Given the description of an element on the screen output the (x, y) to click on. 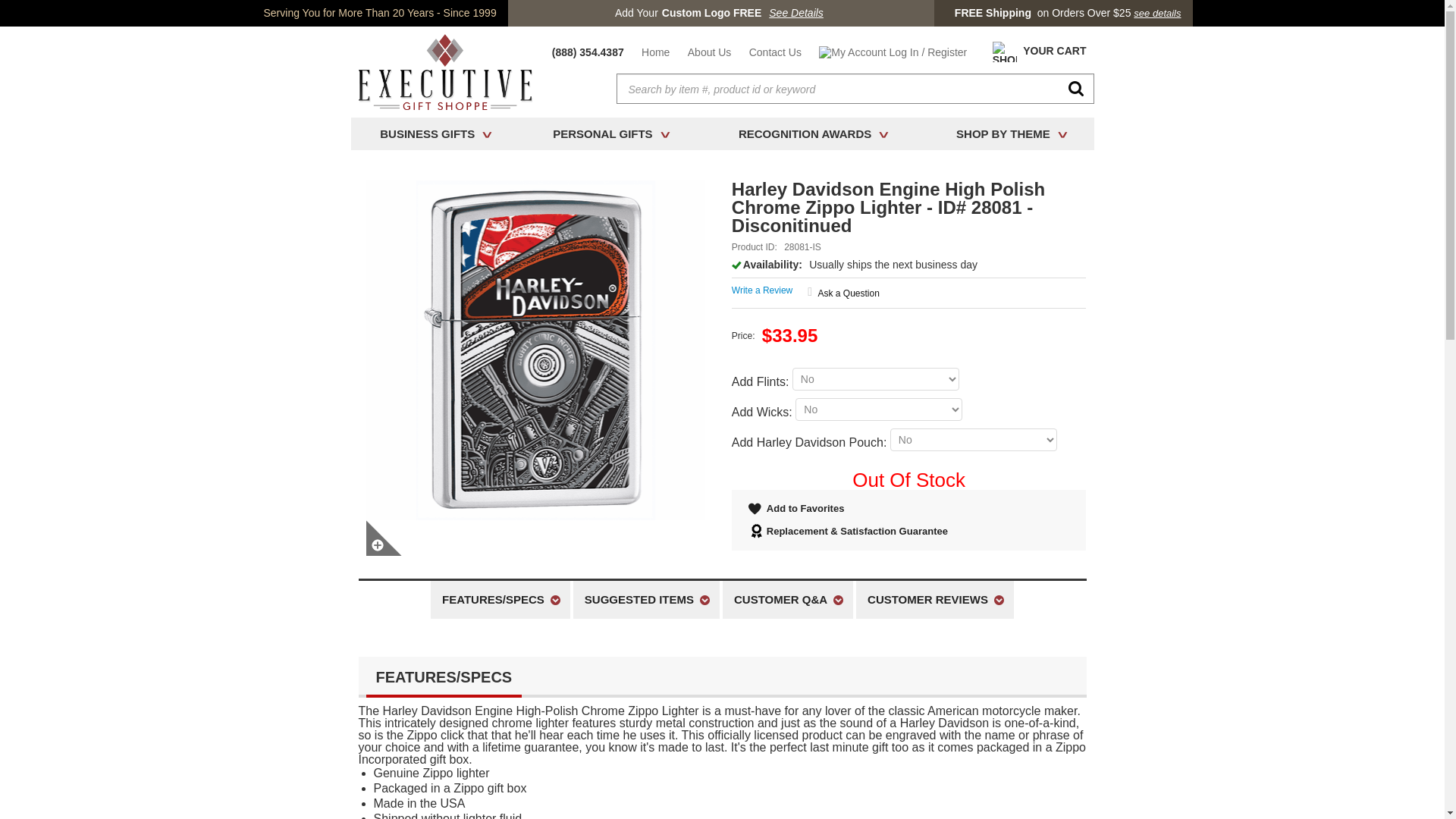
Home (655, 51)
See Details (796, 13)
see details (1157, 13)
YOUR CART (1035, 51)
Contact Us (775, 51)
About Us (709, 51)
